Given the description of an element on the screen output the (x, y) to click on. 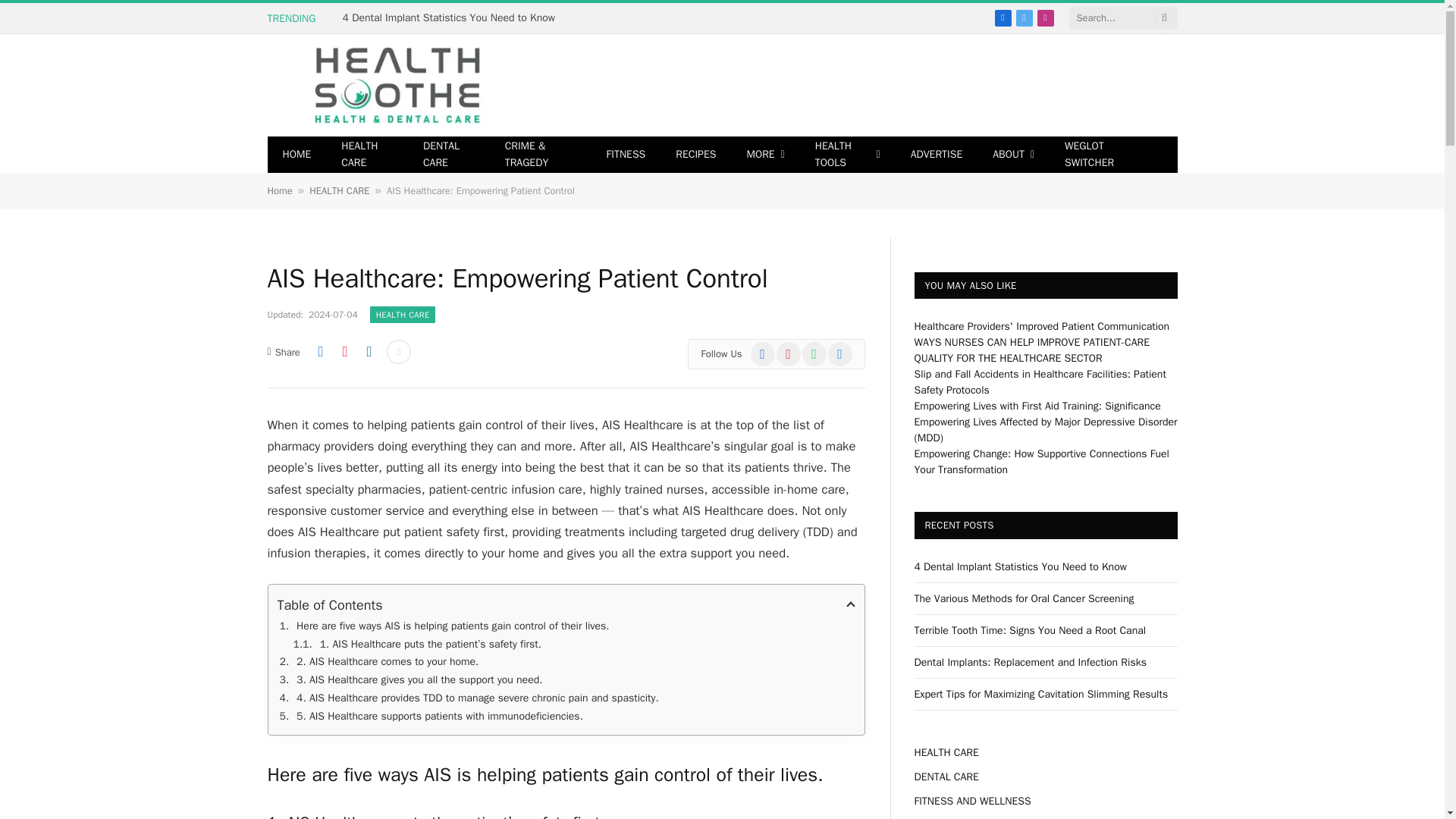
4 Dental Implant Statistics You Need to Know  (454, 18)
Share on Pinterest (344, 351)
Healthsoothe: Health And Dental Care (396, 85)
Share on Facebook (319, 351)
Share on LinkedIn (369, 351)
Show More Social Sharing (398, 351)
Instagram (1045, 17)
Facebook (1002, 17)
